Given the description of an element on the screen output the (x, y) to click on. 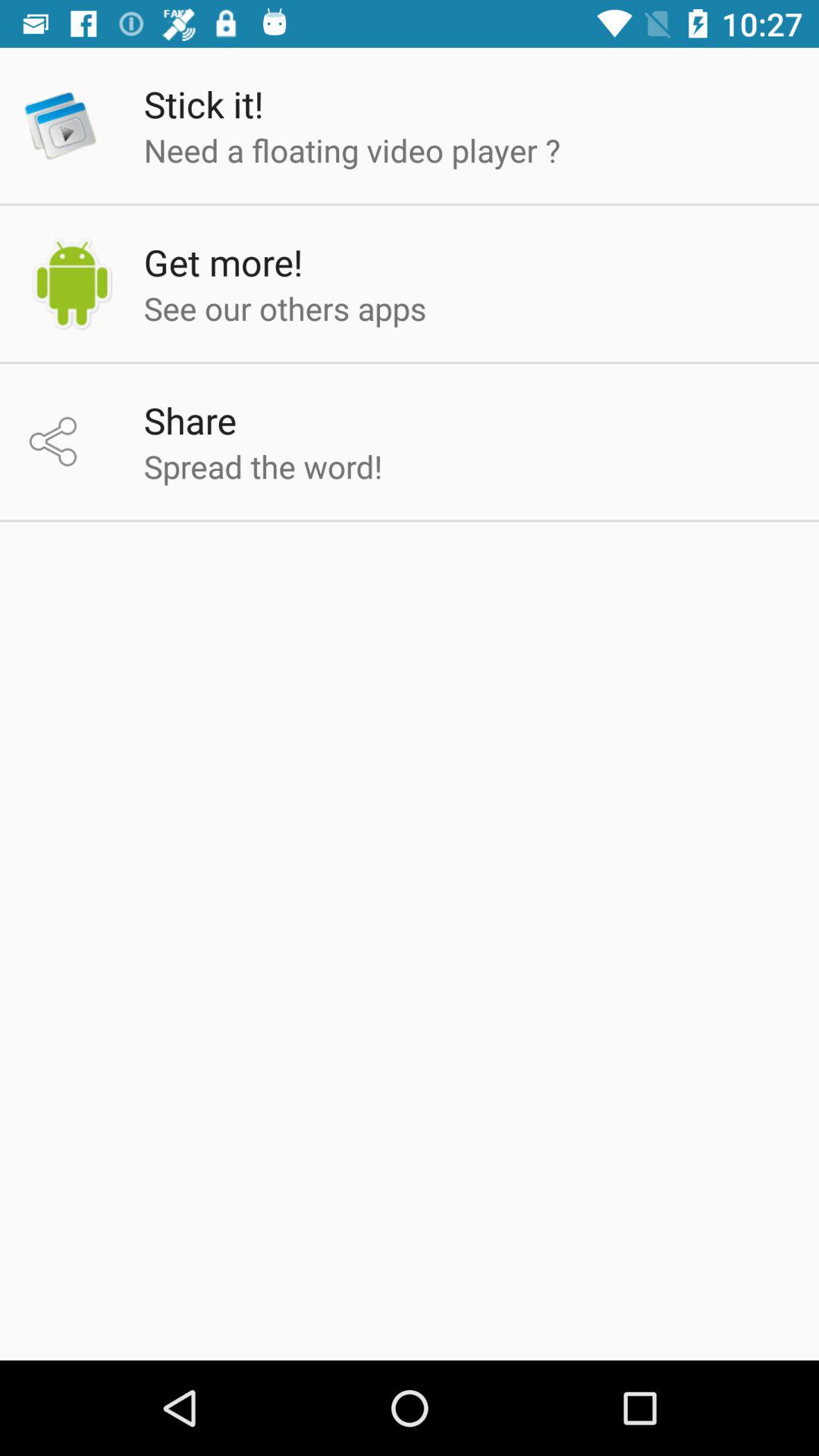
open see our others (284, 307)
